Given the description of an element on the screen output the (x, y) to click on. 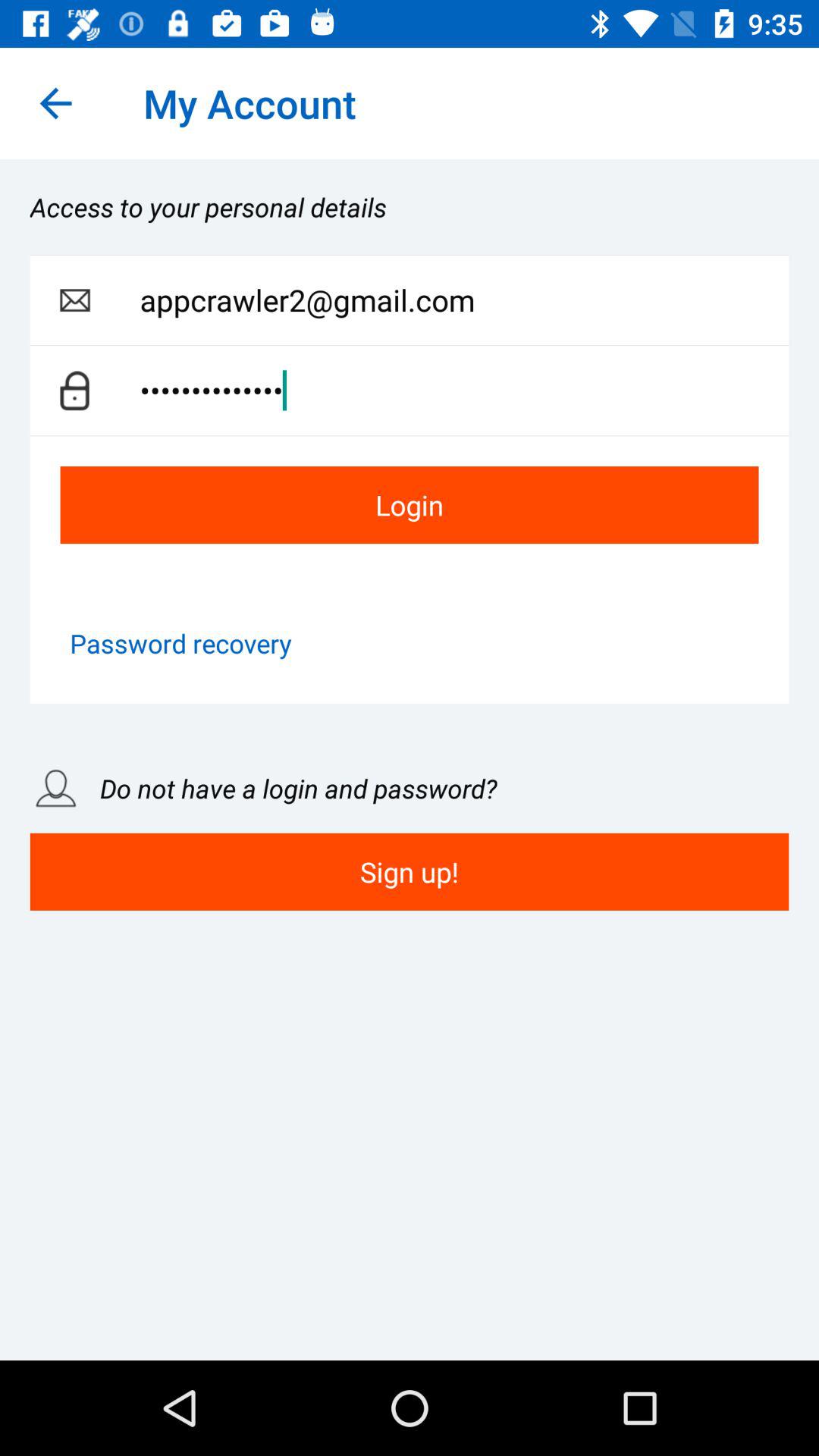
turn off the appcrawler3116 (463, 390)
